Given the description of an element on the screen output the (x, y) to click on. 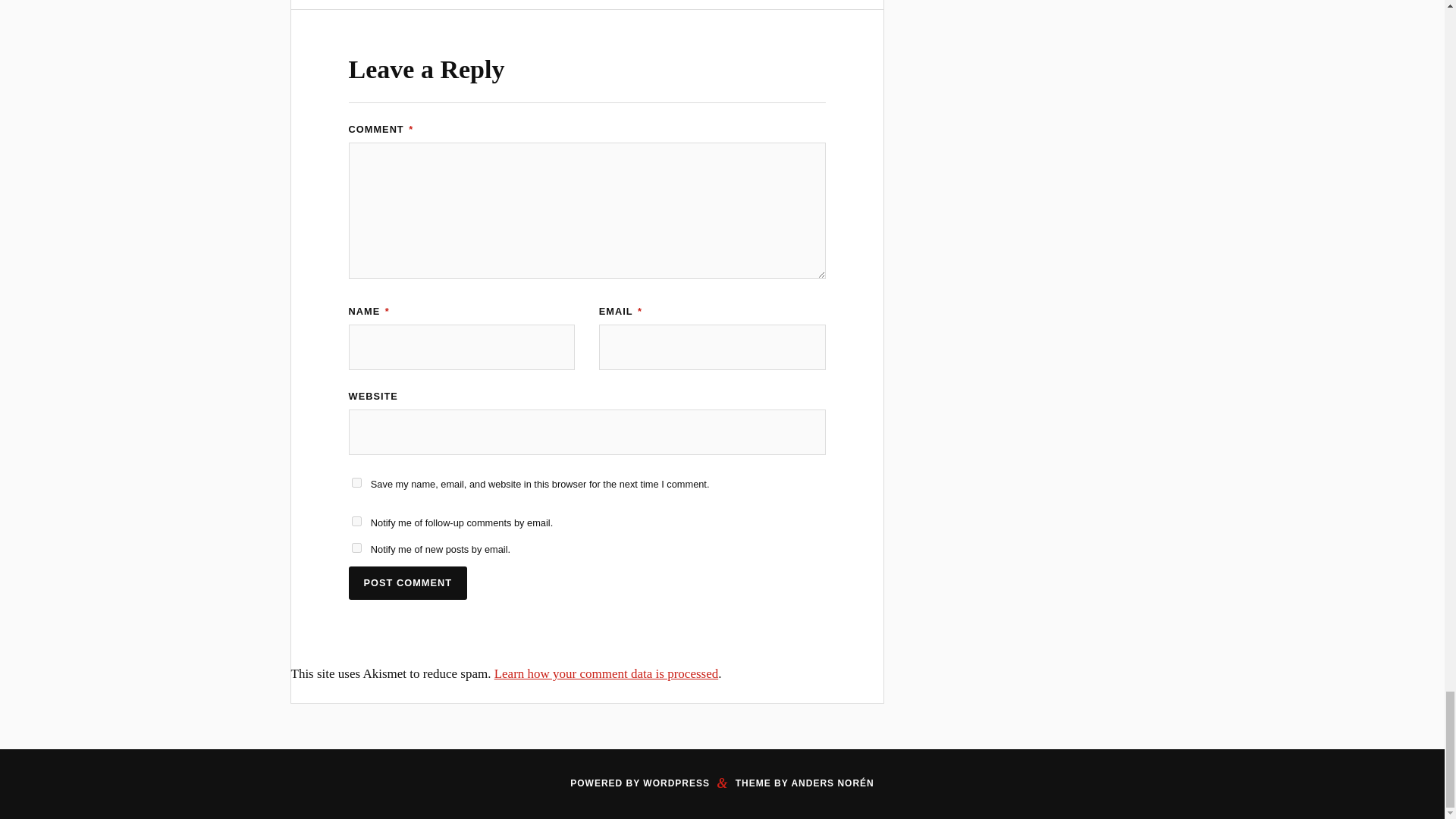
Post Comment (408, 583)
yes (356, 482)
subscribe (356, 521)
subscribe (356, 547)
Post Comment (408, 583)
